Given the description of an element on the screen output the (x, y) to click on. 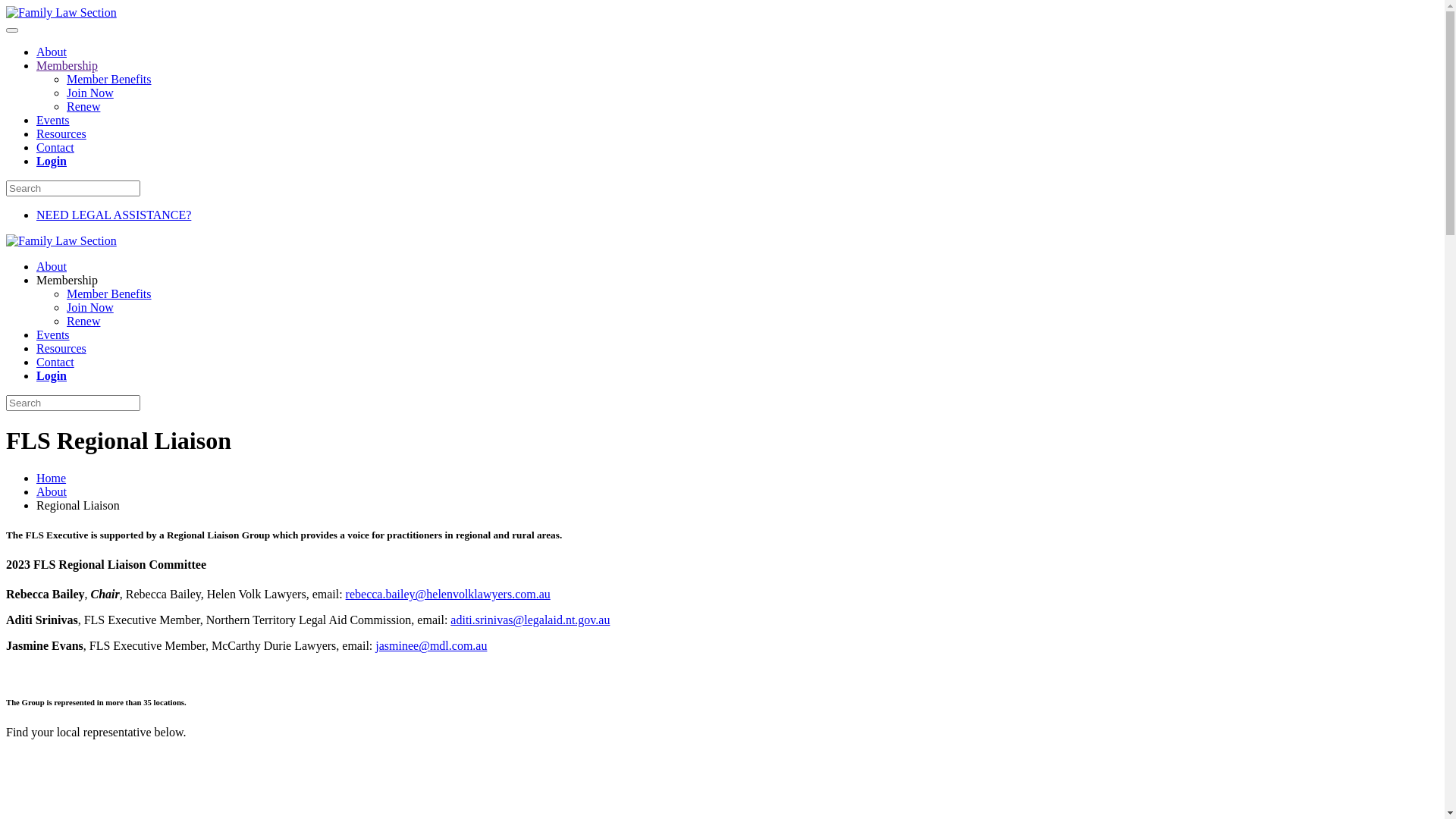
Events Element type: text (52, 119)
About Element type: text (51, 51)
About Element type: text (51, 266)
Renew Element type: text (83, 106)
Login Element type: text (51, 375)
Join Now Element type: text (89, 92)
Member Benefits Element type: text (108, 293)
Join Now Element type: text (89, 307)
jasminee@mdl.com.au Element type: text (430, 645)
About Element type: text (51, 491)
Resources Element type: text (61, 348)
NEED LEGAL ASSISTANCE? Element type: text (113, 214)
Membership Element type: text (66, 279)
Contact Element type: text (55, 361)
Member Benefits Element type: text (108, 78)
Renew Element type: text (83, 320)
Skip to main content Element type: text (56, 12)
Resources Element type: text (61, 133)
rebecca.bailey@helenvolklawyers.com.au Element type: text (447, 593)
Contact Element type: text (55, 147)
Home Element type: text (50, 477)
Login Element type: text (51, 160)
Membership Element type: text (66, 65)
aditi.srinivas@legalaid.nt.gov.au Element type: text (529, 619)
Events Element type: text (52, 334)
